Given the description of an element on the screen output the (x, y) to click on. 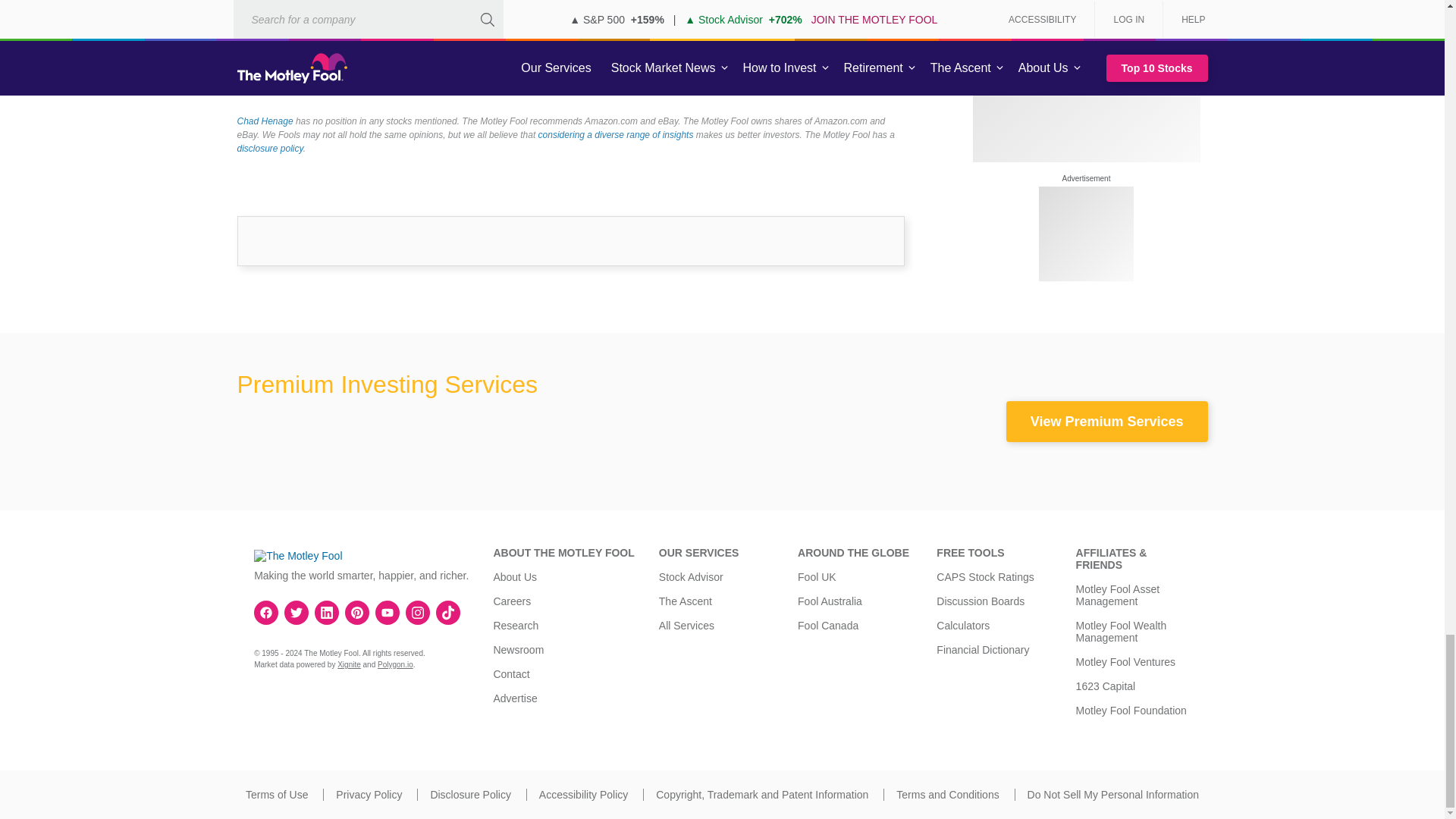
Accessibility Policy (582, 794)
Terms of Use (276, 794)
Do Not Sell My Personal Information. (1112, 794)
Disclosure Policy (470, 794)
Copyright, Trademark and Patent Information (761, 794)
Terms and Conditions (947, 794)
Privacy Policy (368, 794)
